Given the description of an element on the screen output the (x, y) to click on. 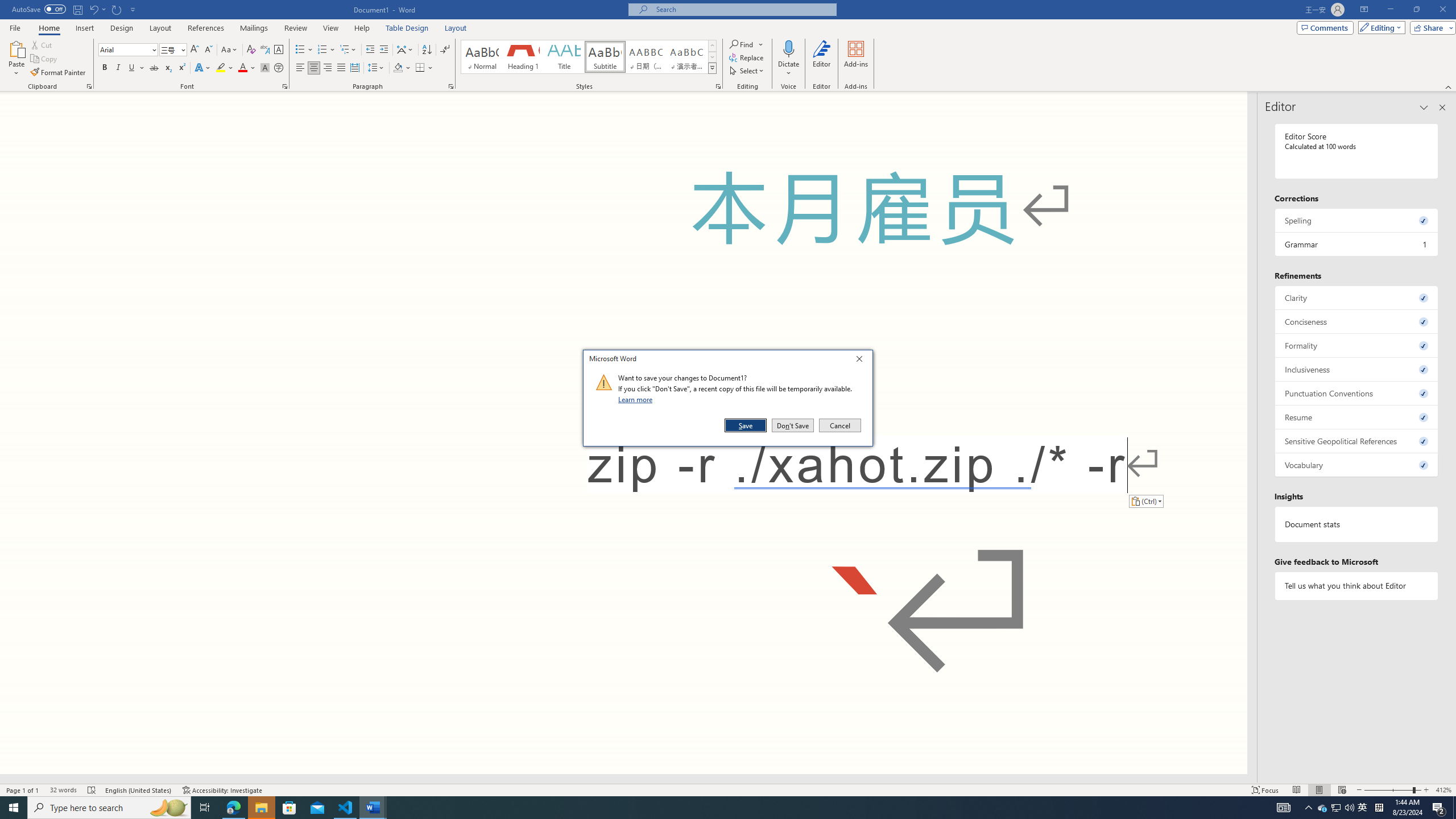
Document statistics (1356, 524)
Undo Paste (92, 9)
Microsoft Edge - 1 running window (233, 807)
Undo Paste (96, 9)
